Given the description of an element on the screen output the (x, y) to click on. 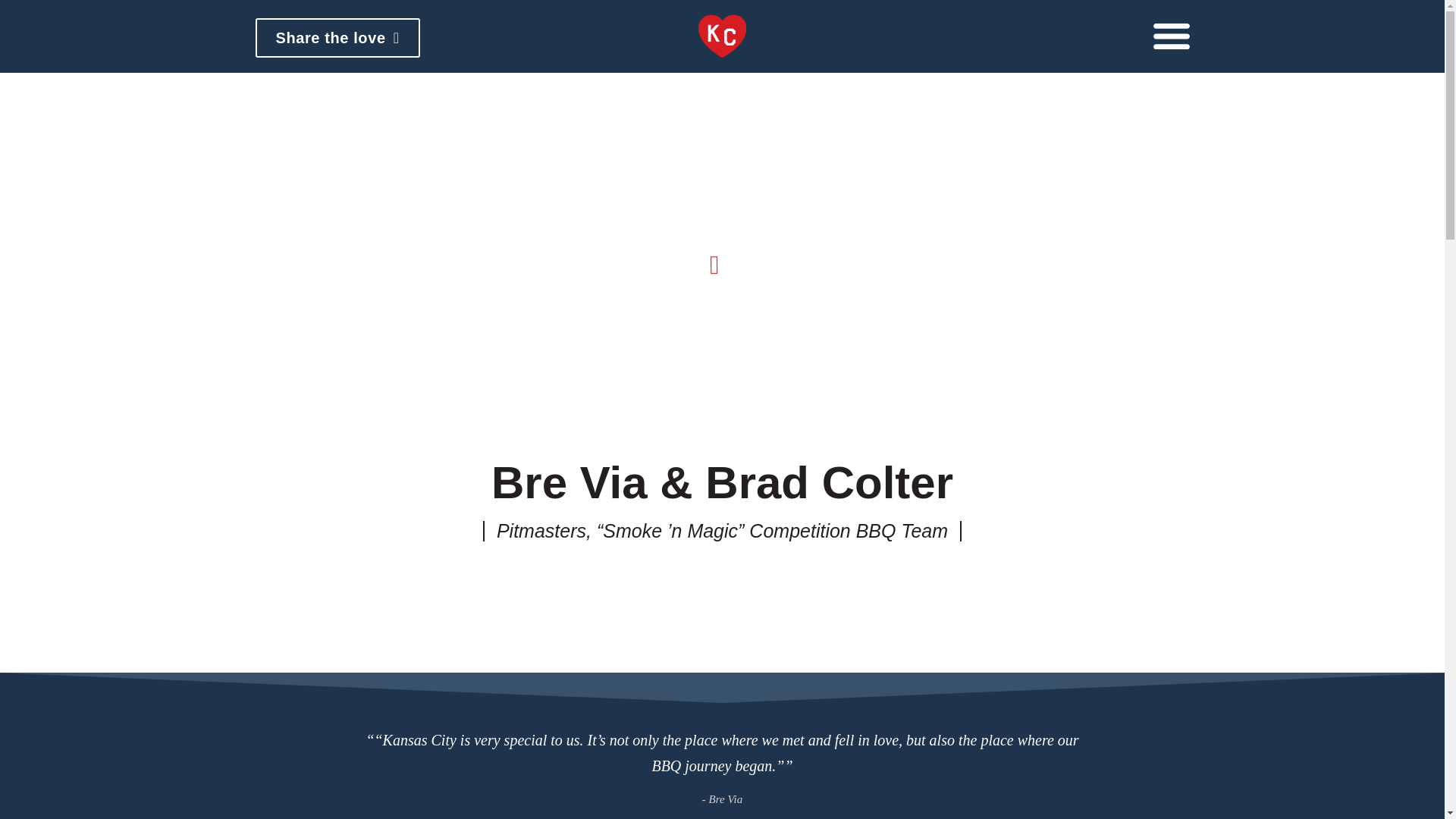
Home (721, 36)
Open Menu (1171, 36)
Smoke 'n Magic Facebook (705, 584)
Smoke 'n Magic Instagram (670, 584)
Smoke 'n Magic TikTok (738, 584)
OPEN MENU (1171, 36)
Smoke 'n Magic YouTube (773, 584)
Share the love (336, 37)
